Given the description of an element on the screen output the (x, y) to click on. 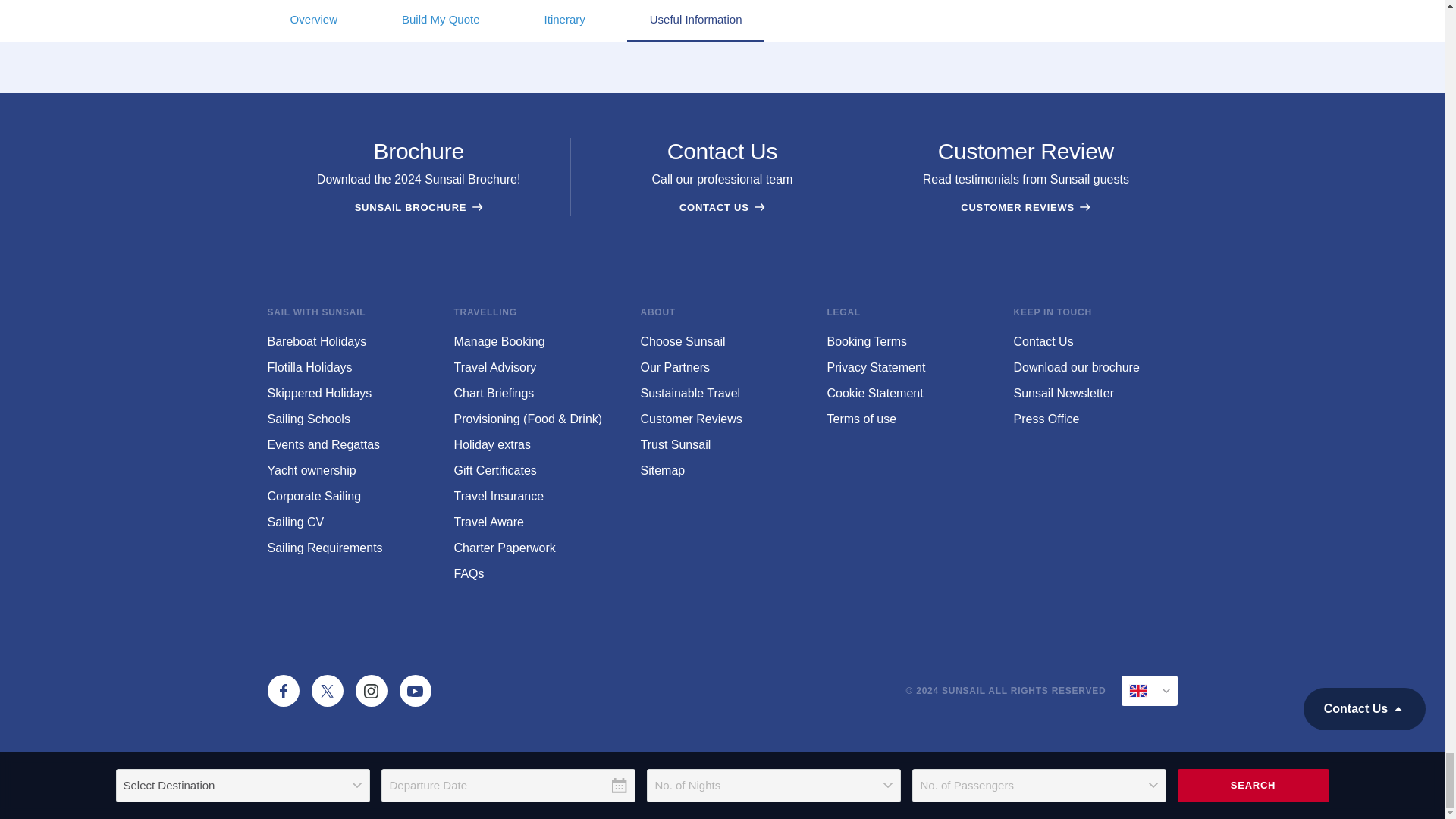
instagram (371, 690)
youtube (414, 690)
twitter (326, 690)
facebook (282, 690)
